Given the description of an element on the screen output the (x, y) to click on. 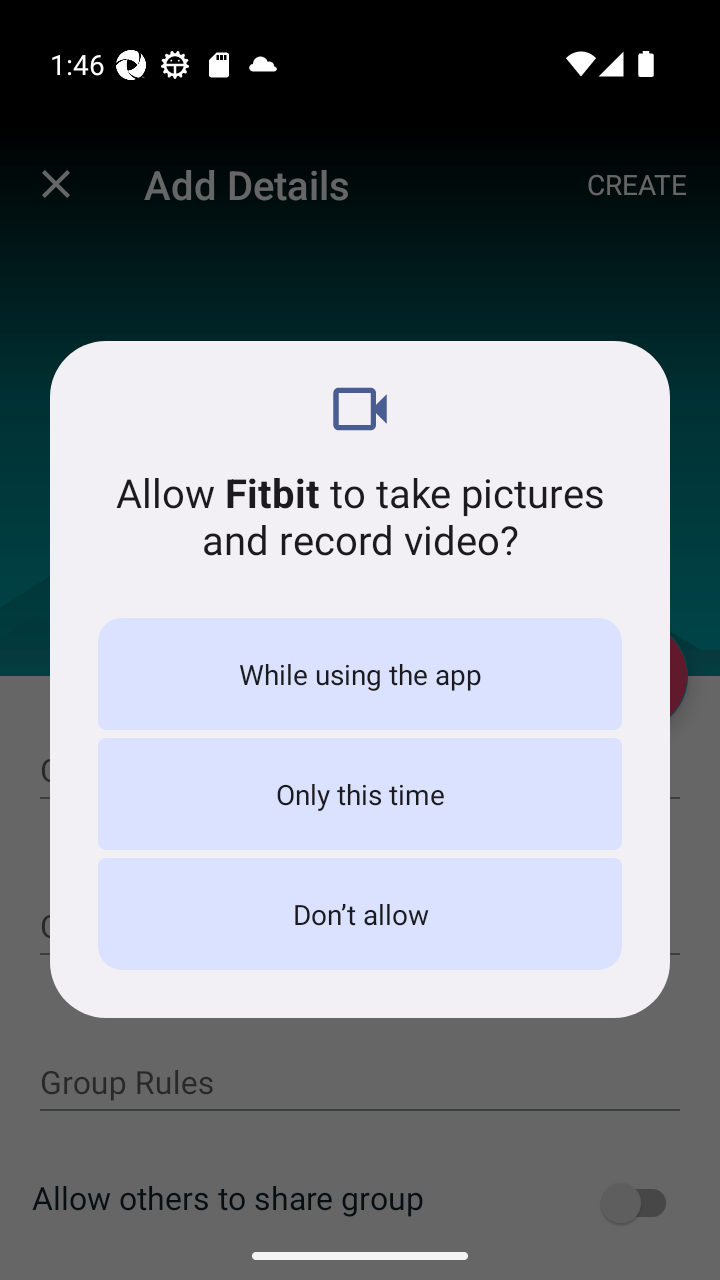
While using the app (359, 673)
Only this time (359, 793)
Don’t allow (359, 913)
